Given the description of an element on the screen output the (x, y) to click on. 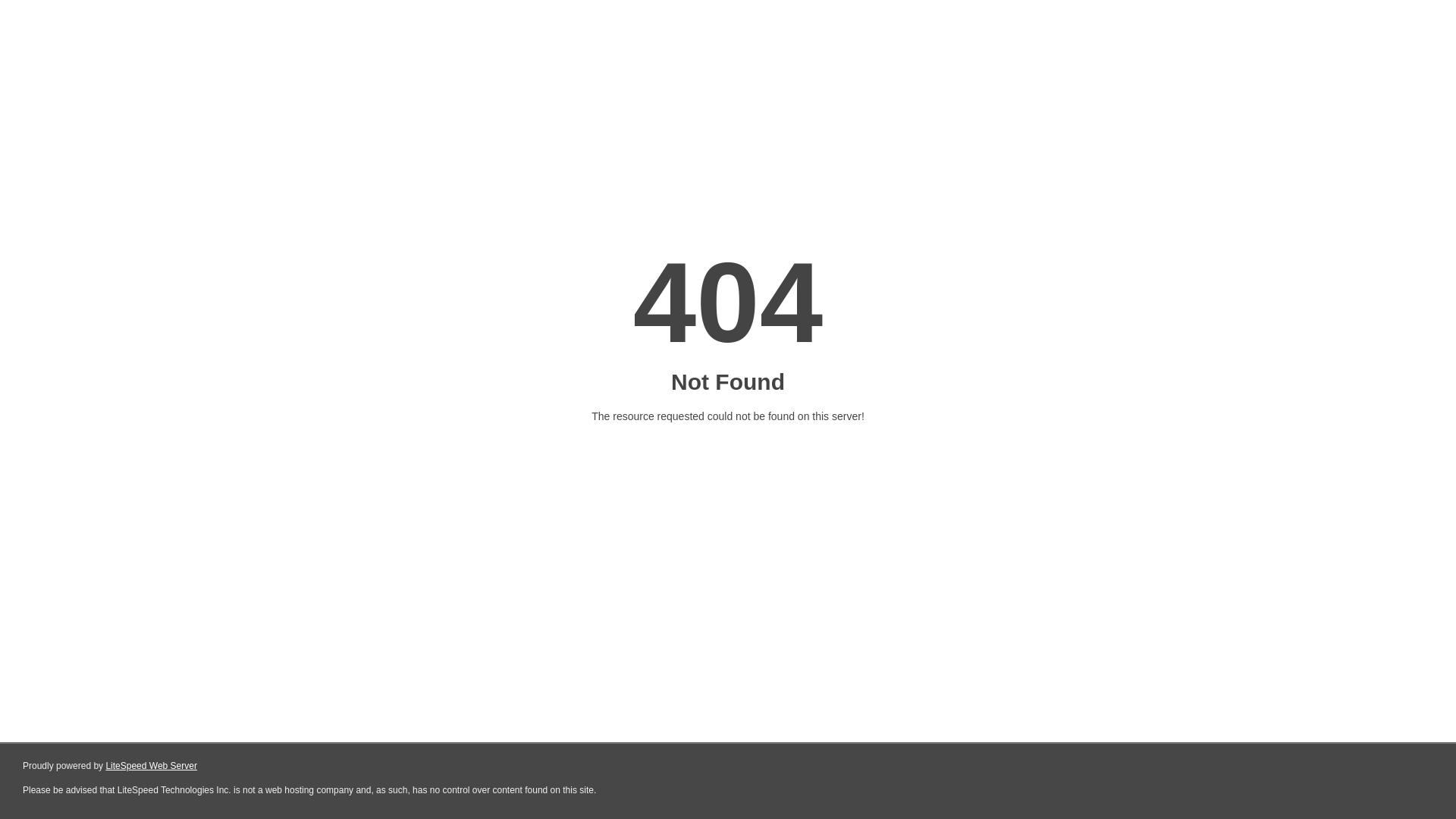
LiteSpeed Web Server Element type: text (151, 765)
